Given the description of an element on the screen output the (x, y) to click on. 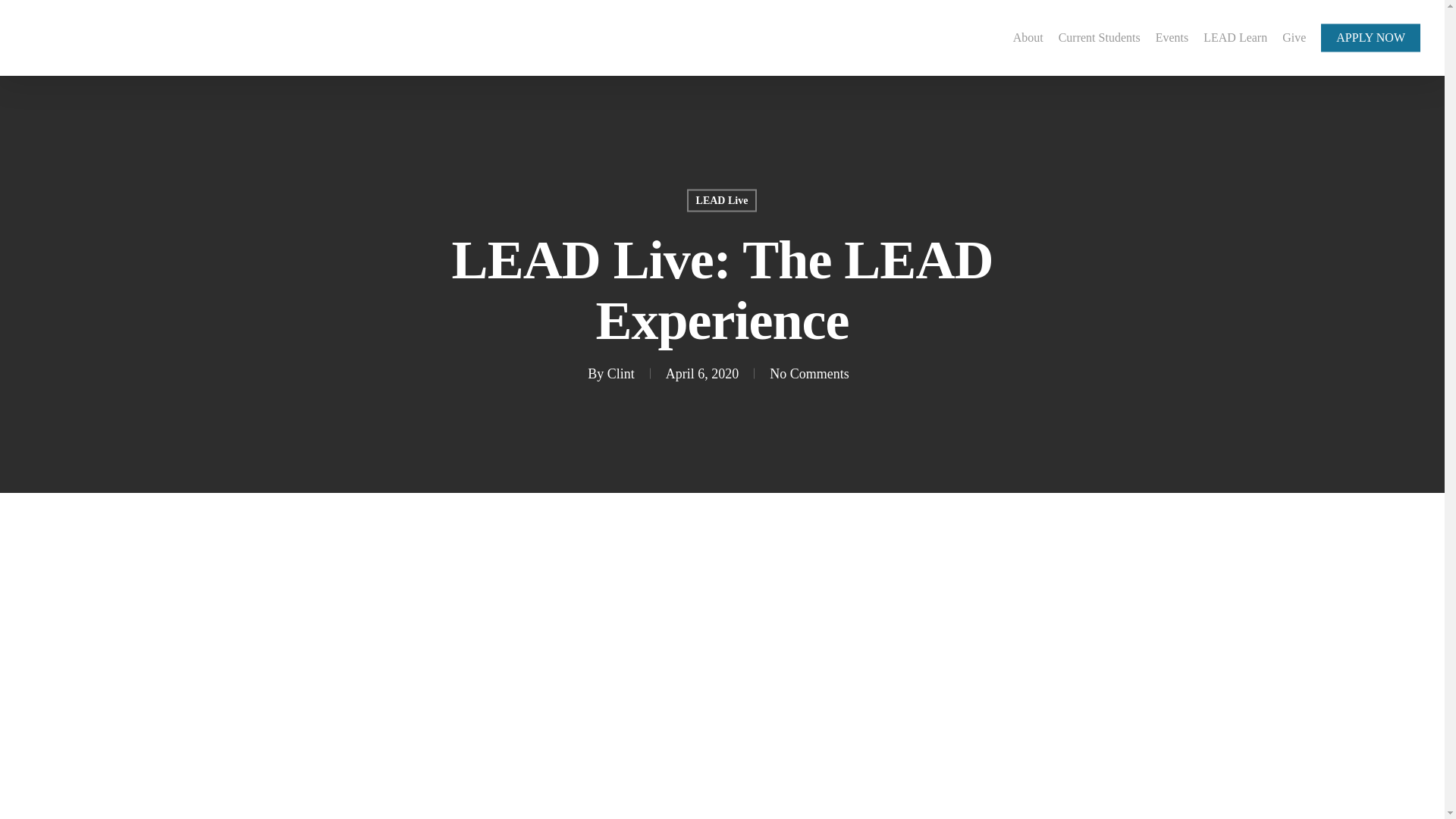
Clint (620, 372)
No Comments (809, 372)
Events (1172, 37)
Current Students (1099, 37)
LEAD Live (722, 200)
About (1028, 37)
LEAD Learn (1235, 37)
APPLY NOW (1370, 37)
Give (1294, 37)
Posts by Clint (620, 372)
